Given the description of an element on the screen output the (x, y) to click on. 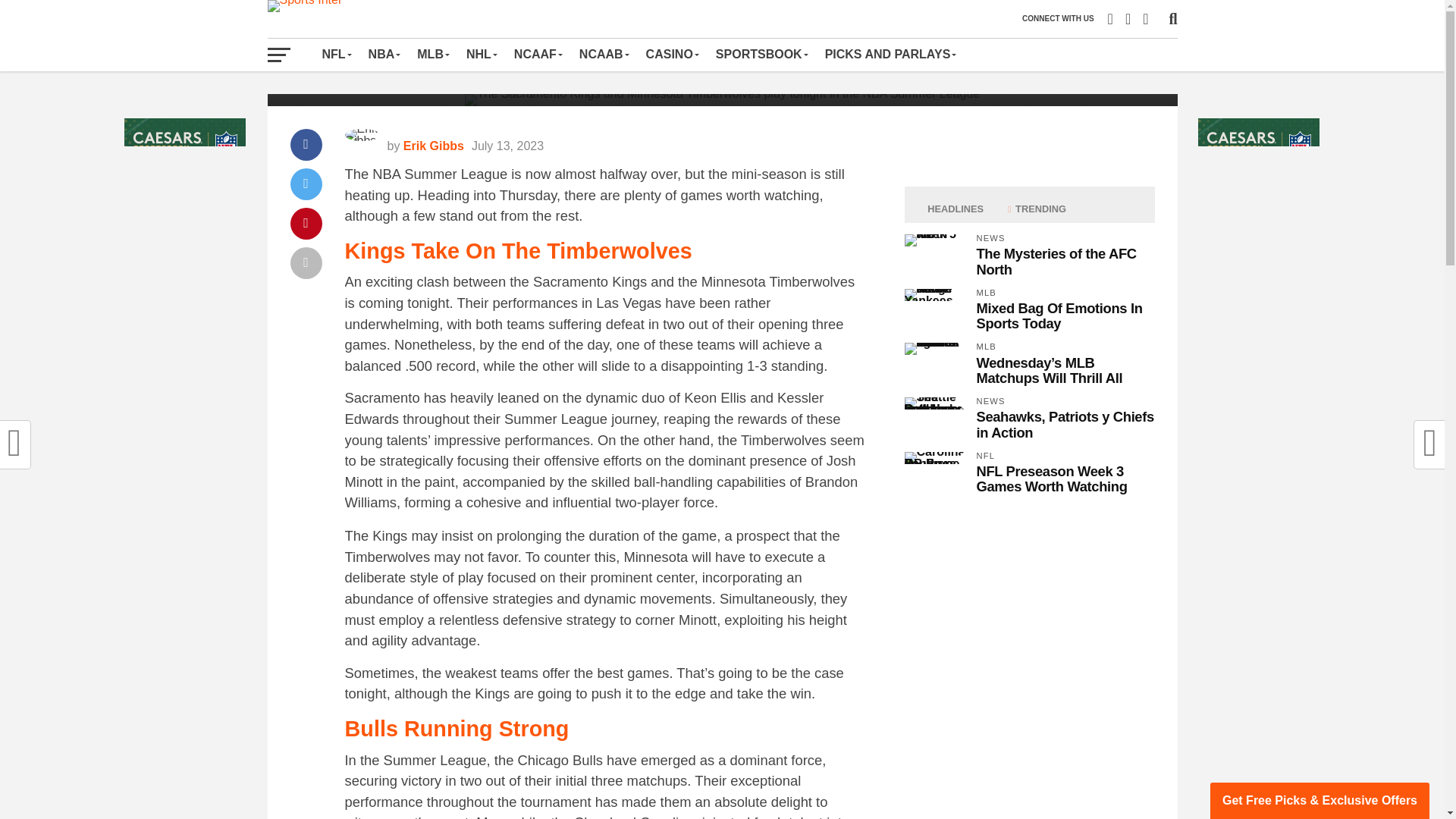
Posts by Erik Gibbs (433, 145)
